Given the description of an element on the screen output the (x, y) to click on. 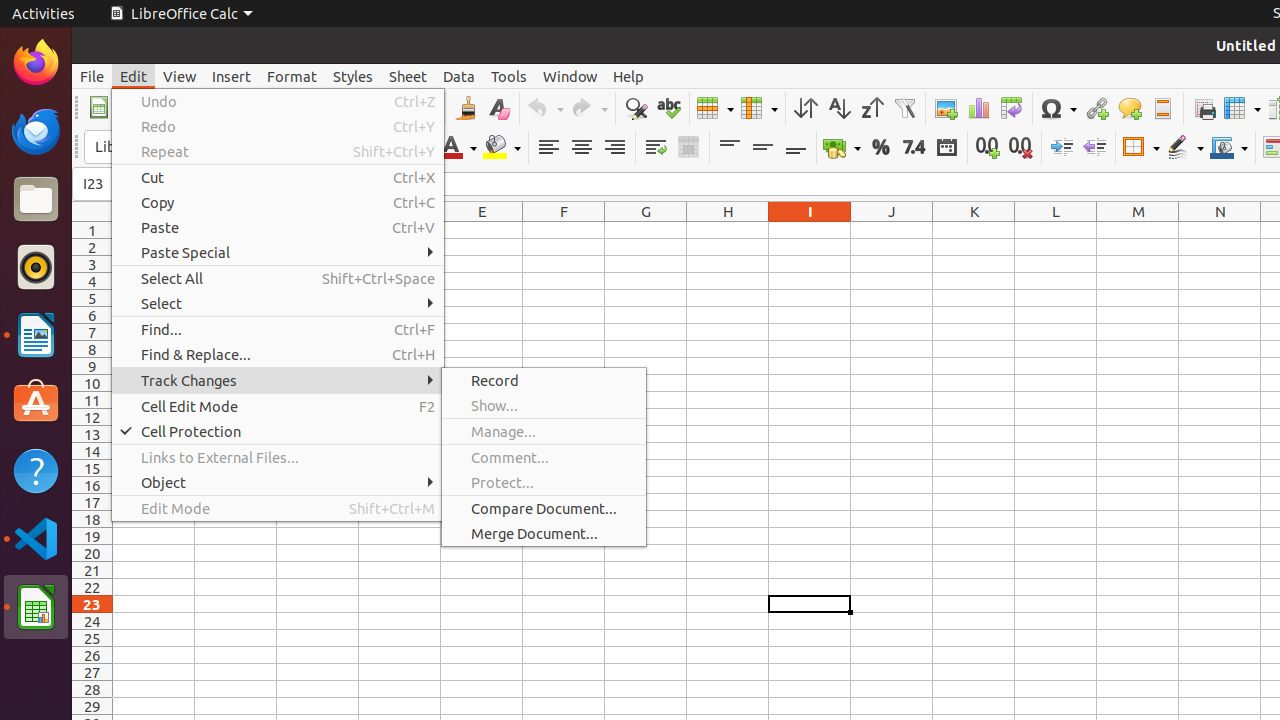
Symbol Element type: push-button (1058, 108)
Repeat Element type: menu-item (278, 151)
Decrease Element type: push-button (1094, 147)
Copy Element type: menu-item (278, 202)
Add Decimal Place Element type: push-button (987, 147)
